Given the description of an element on the screen output the (x, y) to click on. 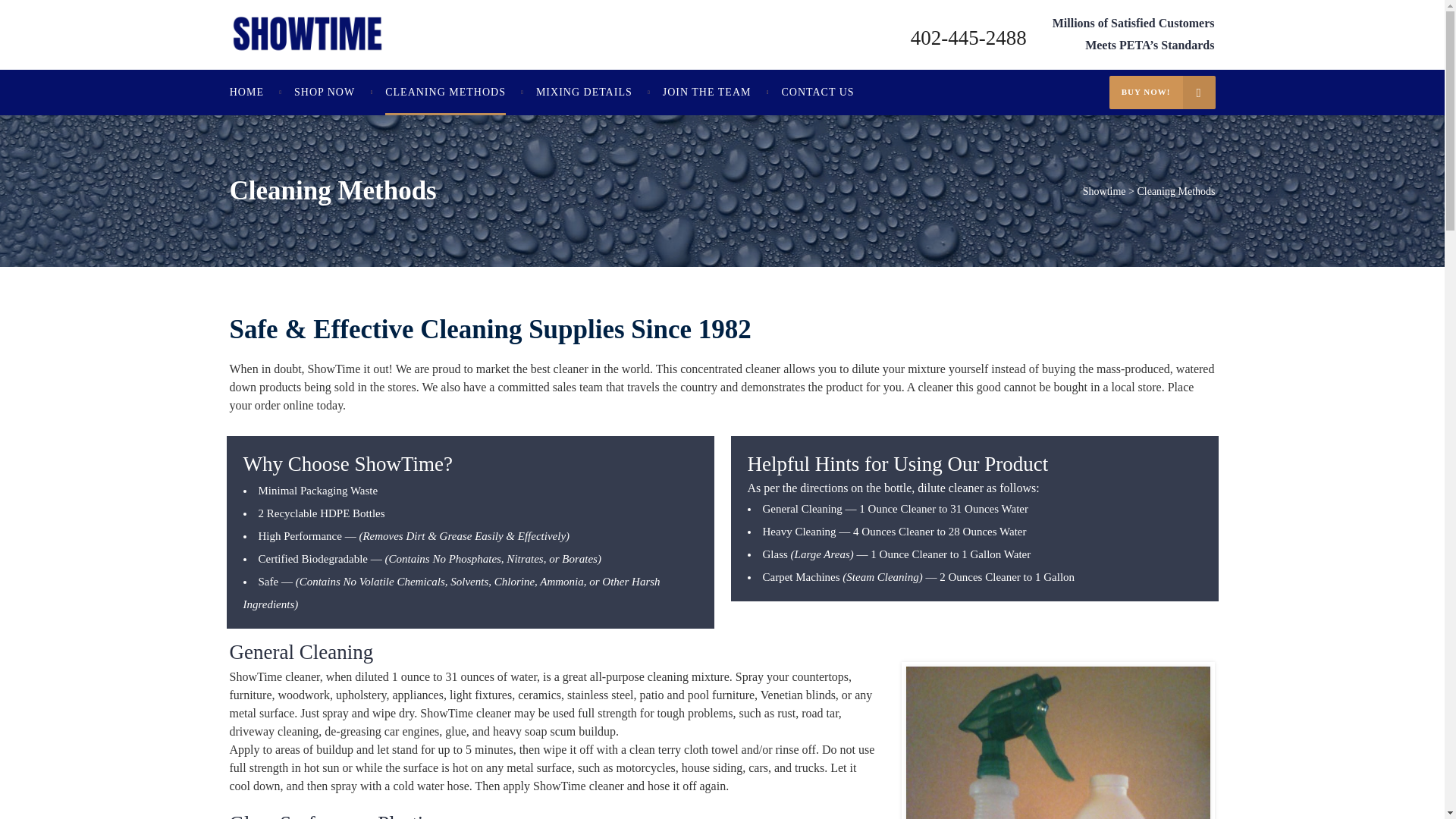
MIXING DETAILS (584, 92)
HOME (254, 92)
JOIN THE TEAM (707, 92)
402-445-2488 (968, 37)
BUY NOW! (1162, 92)
Showtime (1104, 191)
CLEANING METHODS (445, 92)
SHOP NOW (324, 92)
CONTACT US (817, 92)
